Given the description of an element on the screen output the (x, y) to click on. 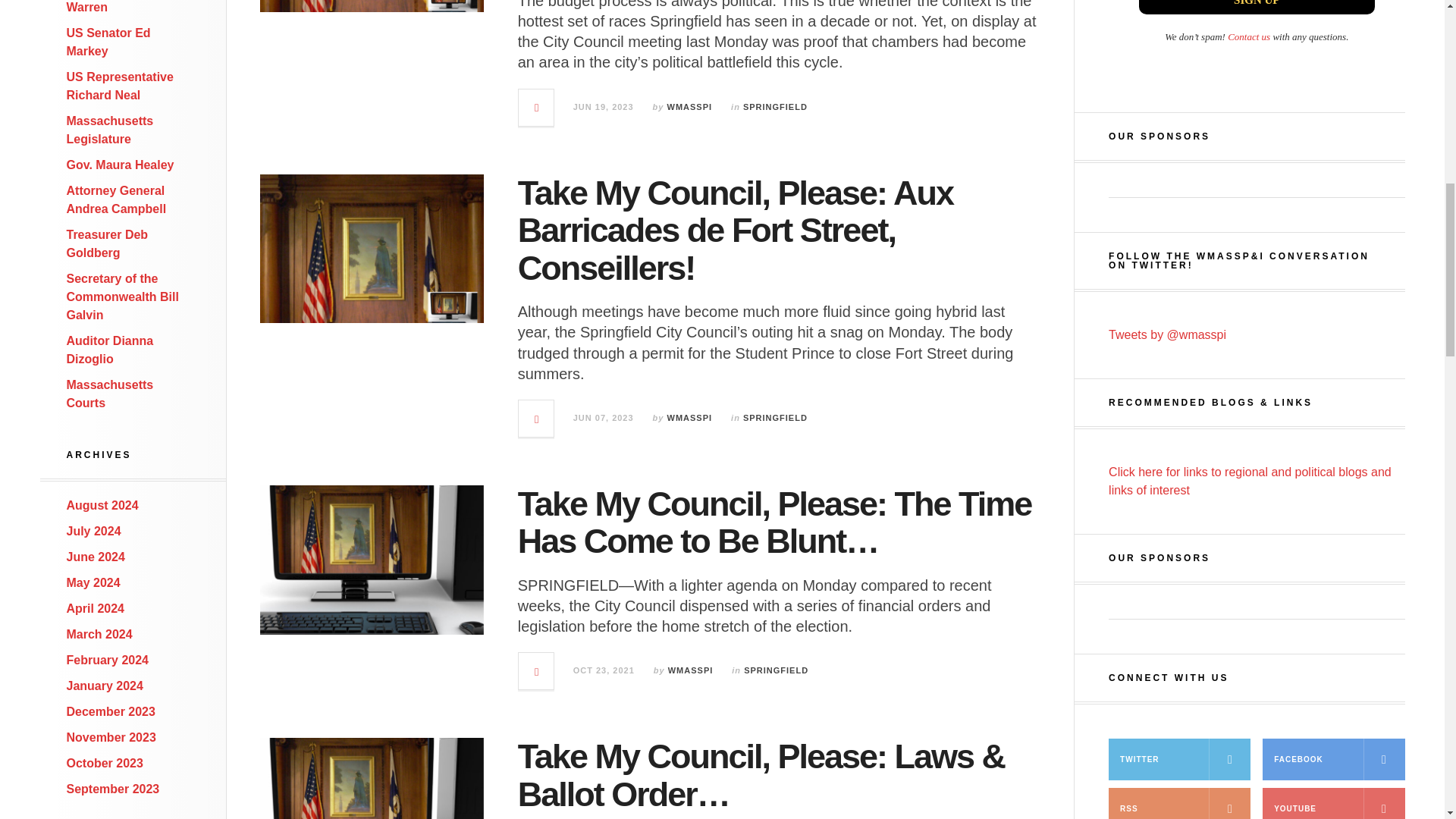
Treasurer Deb Goldberg (107, 243)
Auditor Dianna Dizoglio (110, 349)
Posts by wmasspi (689, 106)
View all posts in Springfield (775, 106)
Sign up (1256, 7)
US Senator Elizabeth Warren (127, 6)
Massachusetts Courts (110, 393)
Secretary of the Commonwealth Bill Galvin (122, 296)
US Representative Richard Neal (119, 85)
Read More... (536, 107)
